Given the description of an element on the screen output the (x, y) to click on. 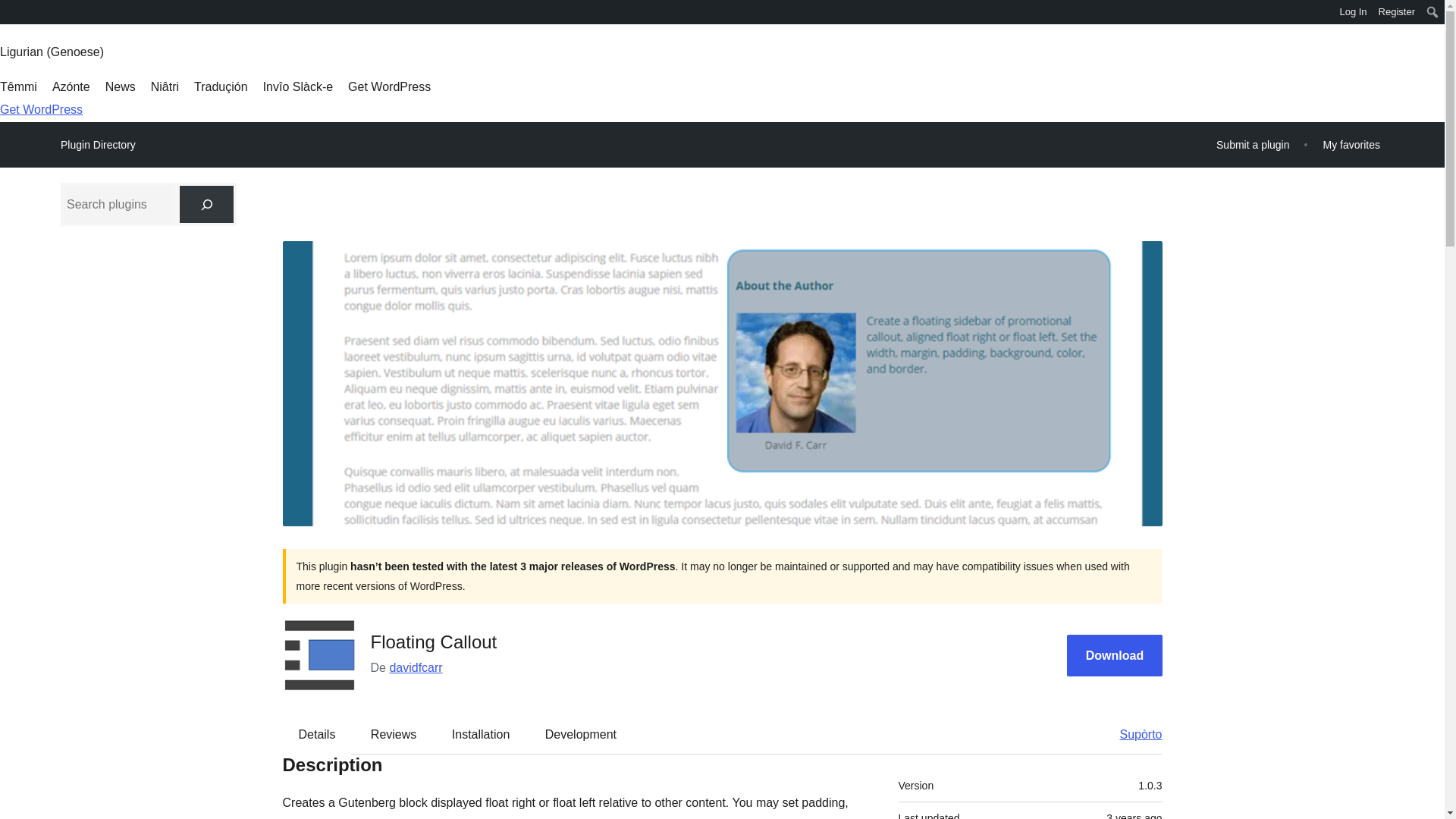
Get WordPress (41, 109)
Reviews (392, 733)
WordPress.org (10, 16)
Download (1114, 655)
Details (316, 733)
Get WordPress (388, 87)
Plugin Directory (97, 144)
News (119, 87)
Register (1397, 12)
Log In (1353, 12)
Installation (480, 733)
Development (580, 733)
Submit a plugin (1253, 144)
Search (16, 13)
WordPress.org (10, 10)
